Given the description of an element on the screen output the (x, y) to click on. 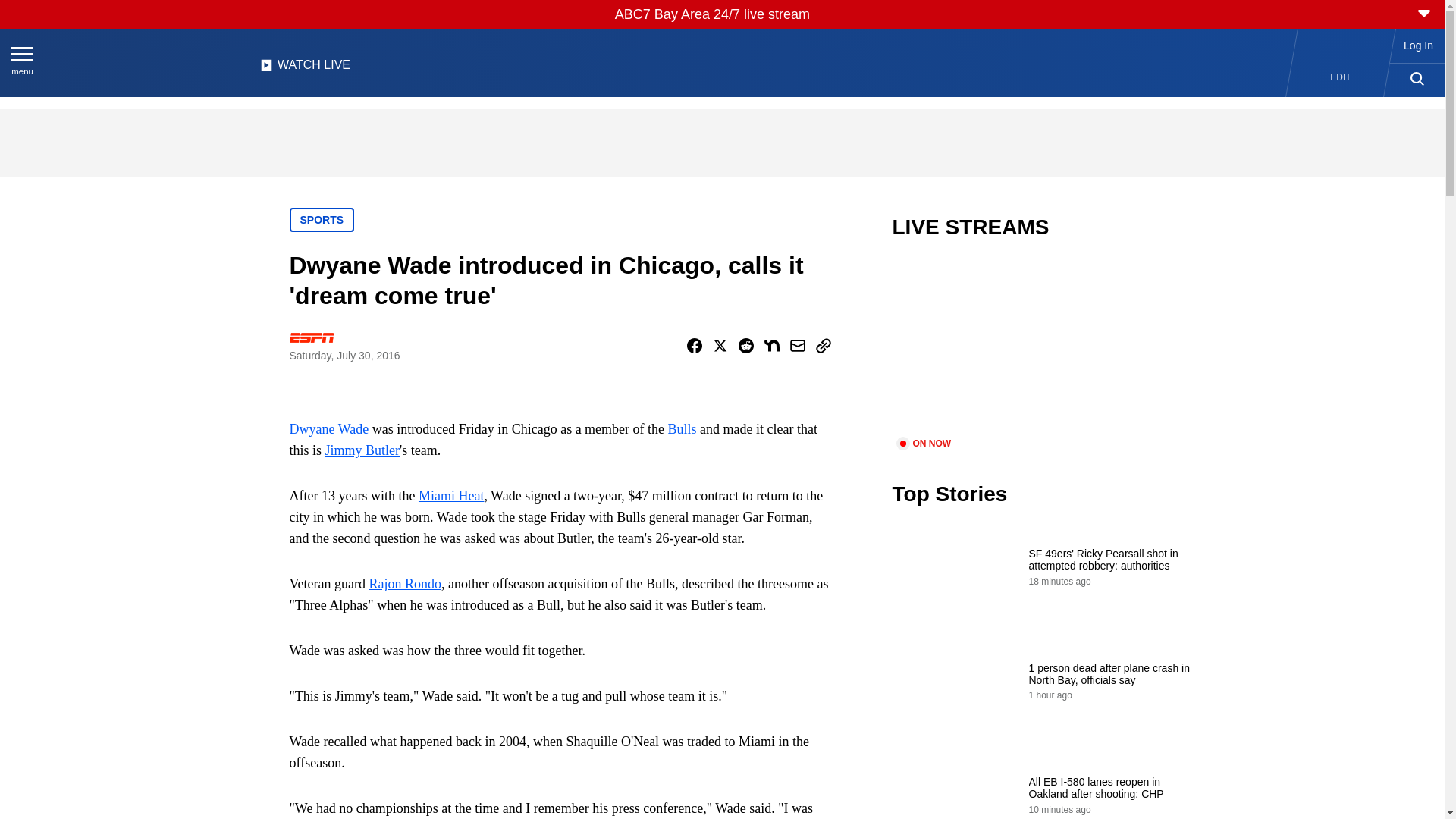
EDIT (1340, 77)
WATCH LIVE (305, 69)
video.title (1043, 347)
